Given the description of an element on the screen output the (x, y) to click on. 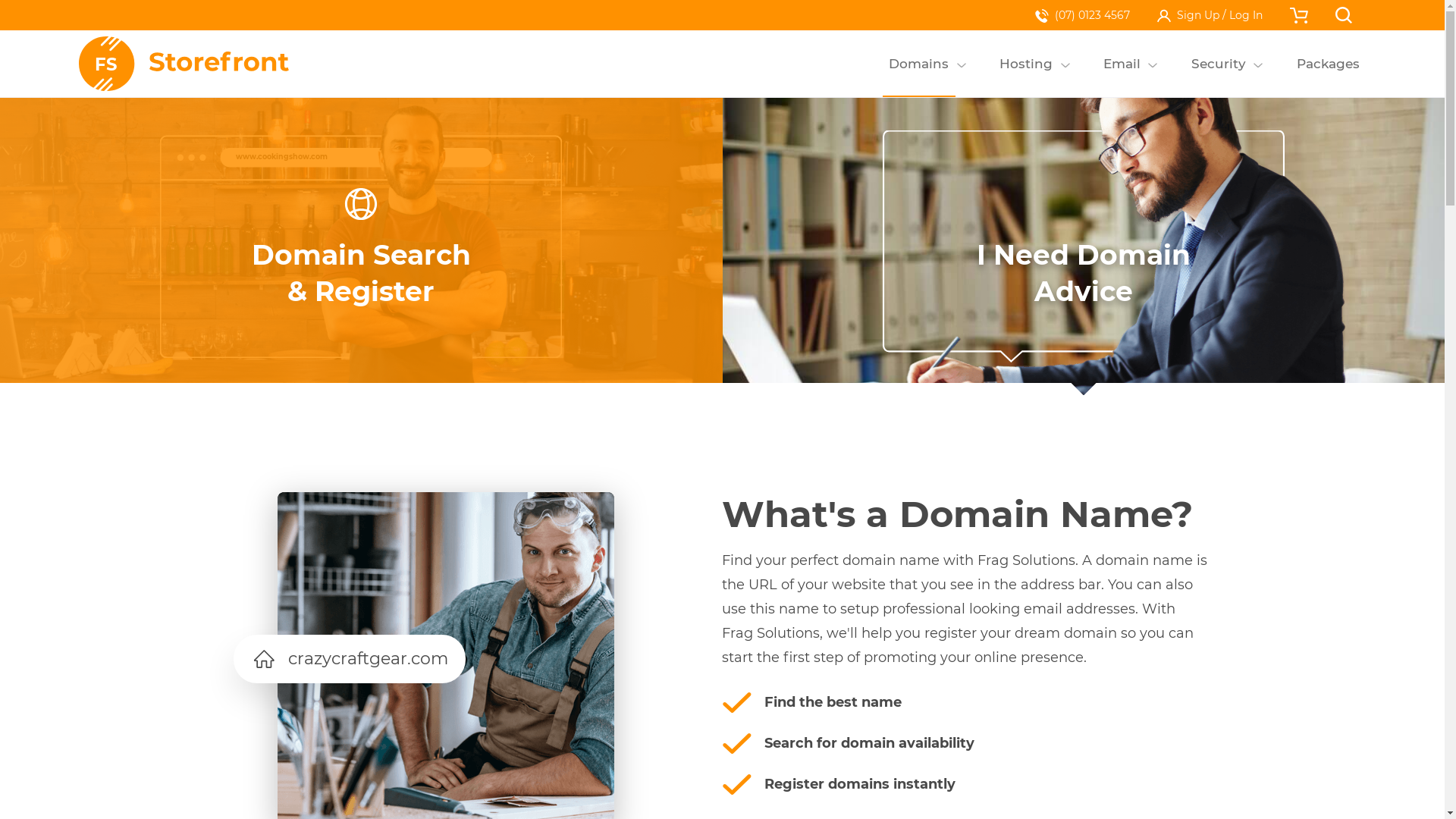
FS Element type: text (184, 63)
Packages Element type: text (1327, 63)
Security Element type: text (1218, 63)
www.cookingshow.com
Domain Search 
& Register Element type: text (361, 246)
(07) 0123 4567 Element type: text (1082, 15)
Email Element type: text (1122, 63)
Domains Element type: text (918, 63)
Hosting Element type: text (1026, 63)
